Given the description of an element on the screen output the (x, y) to click on. 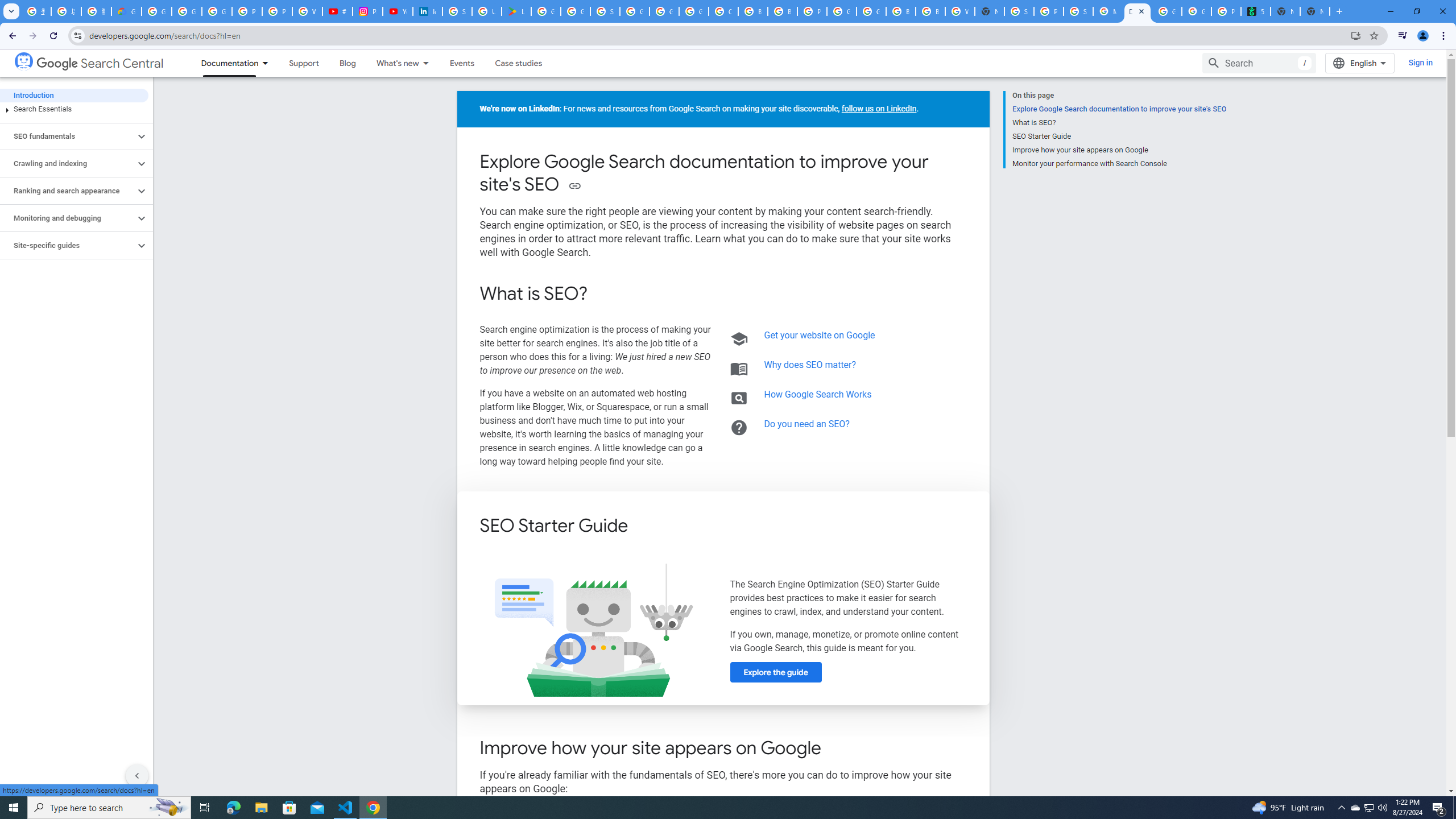
Google Workspace - Specific Terms (575, 11)
What's new (392, 62)
Copy link to this section: What is SEO?  (602, 294)
Sign in - Google Accounts (604, 11)
Browse Chrome as a guest - Computer - Google Chrome Help (900, 11)
What is SEO? (1118, 122)
Google Cloud Platform (841, 11)
Last Shelter: Survival - Apps on Google Play (515, 11)
Do you need an SEO? (807, 423)
